Given the description of an element on the screen output the (x, y) to click on. 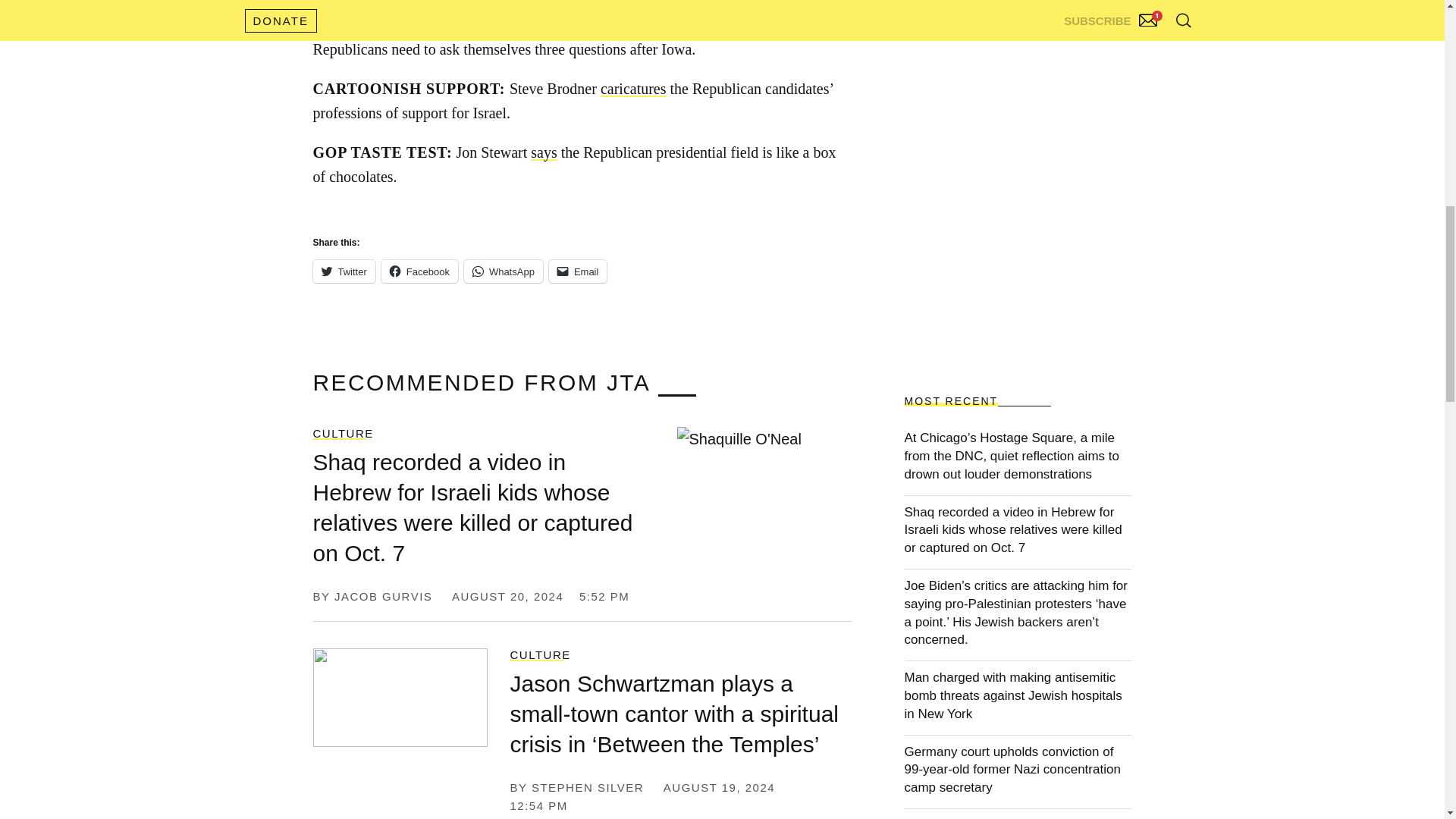
Click to share on Twitter (343, 271)
Click to email a link to a friend (577, 271)
Click to share on WhatsApp (503, 271)
Click to share on Facebook (419, 271)
